Given the description of an element on the screen output the (x, y) to click on. 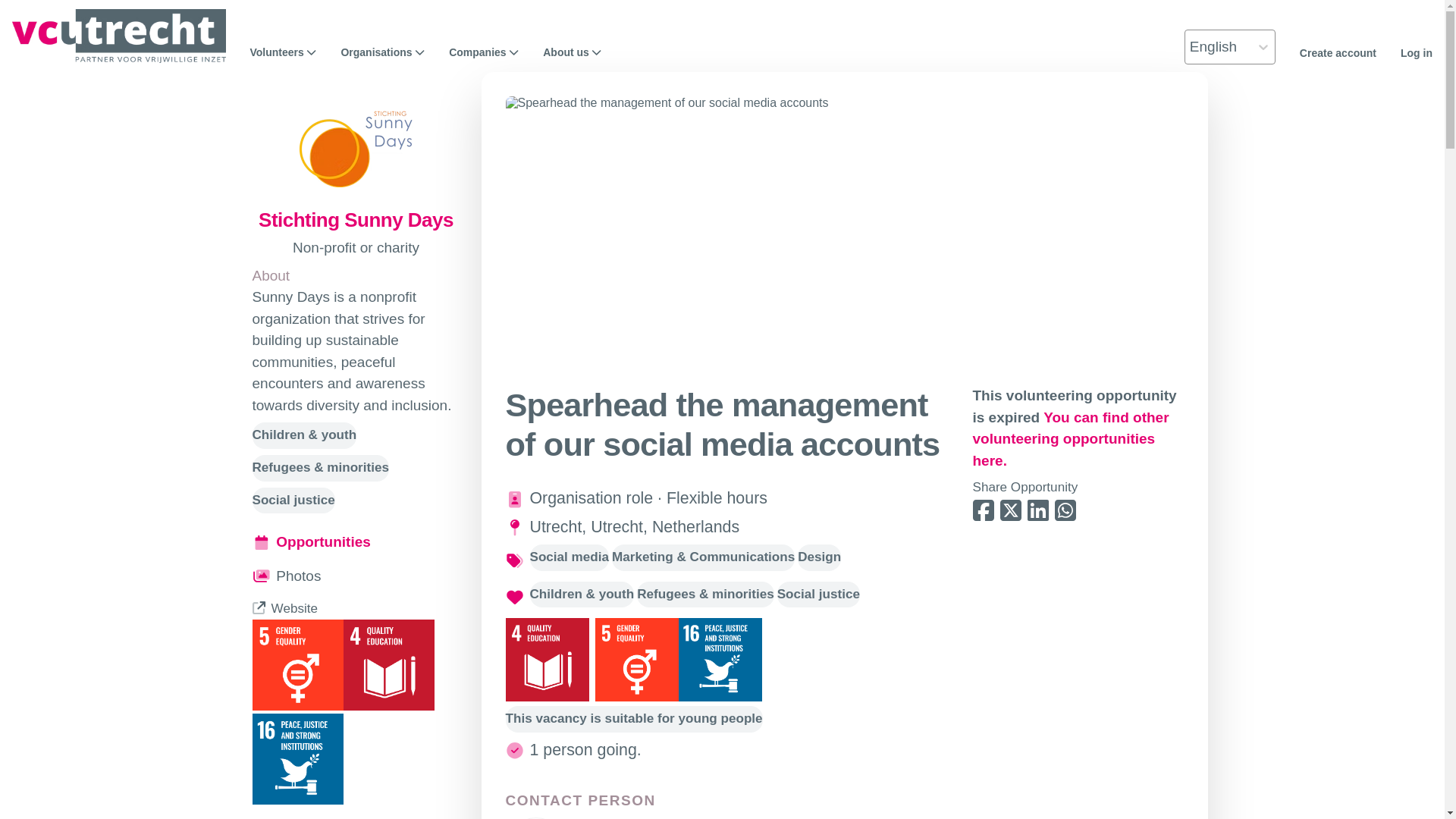
Photos (355, 576)
About us (572, 51)
Companies (483, 51)
Volunteers (283, 51)
You can find other volunteering opportunities here. (1070, 438)
Opportunities (355, 542)
Website (284, 608)
Create account (1337, 52)
Stichting Sunny Days (355, 219)
Organisations (382, 51)
Log in (1416, 52)
